Given the description of an element on the screen output the (x, y) to click on. 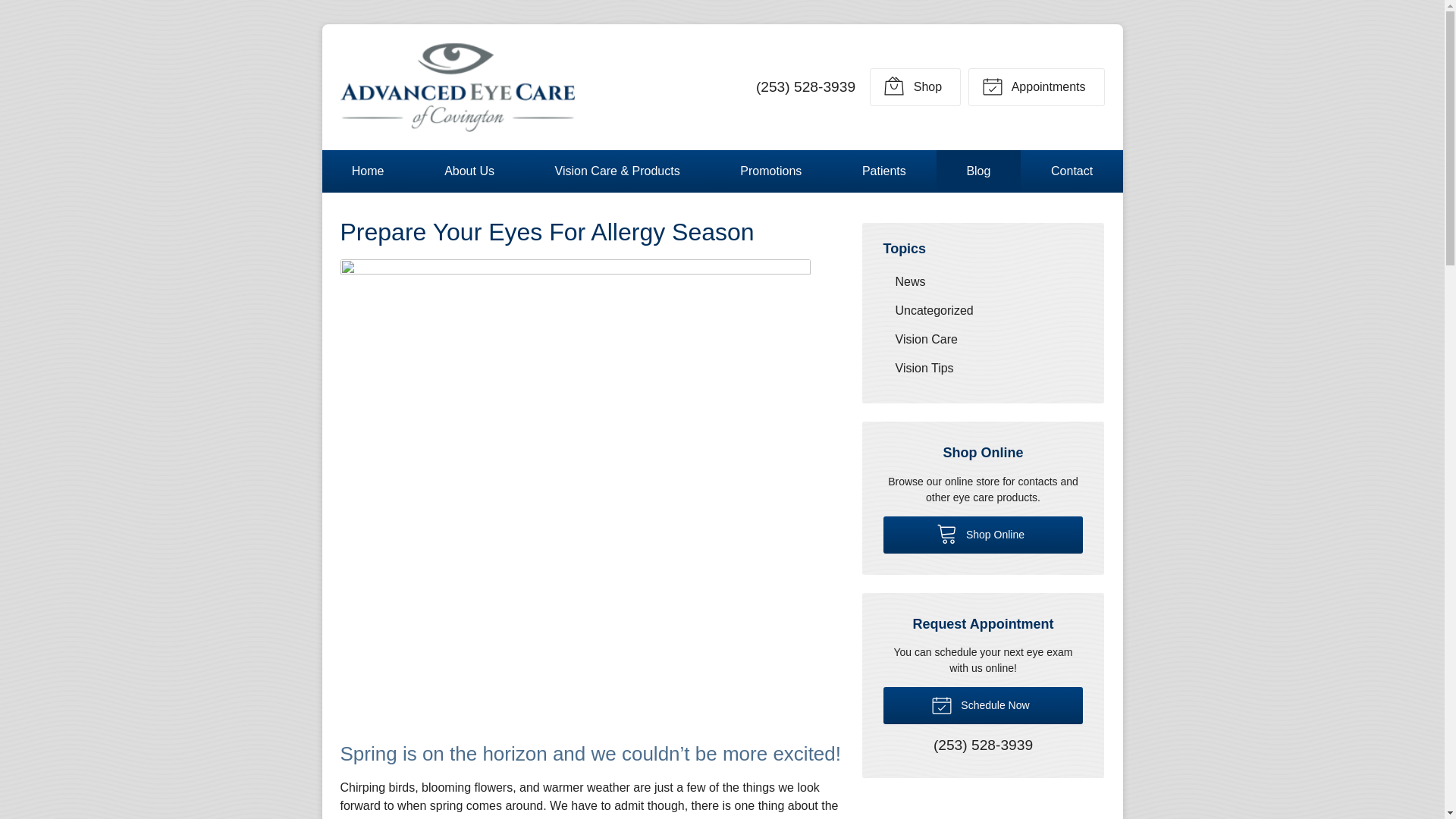
Shop Online (982, 534)
Schedule Now (982, 705)
Patients (884, 170)
Request Appointment (1035, 86)
About Us (469, 170)
Call practice (982, 746)
Vision Tips (982, 367)
Vision Care (982, 338)
Home (367, 170)
Call practice (805, 86)
Promotions (770, 170)
Appointments (1035, 86)
Shop Online (982, 534)
Advanced Eye Care of Covington (456, 86)
Blog (978, 170)
